Given the description of an element on the screen output the (x, y) to click on. 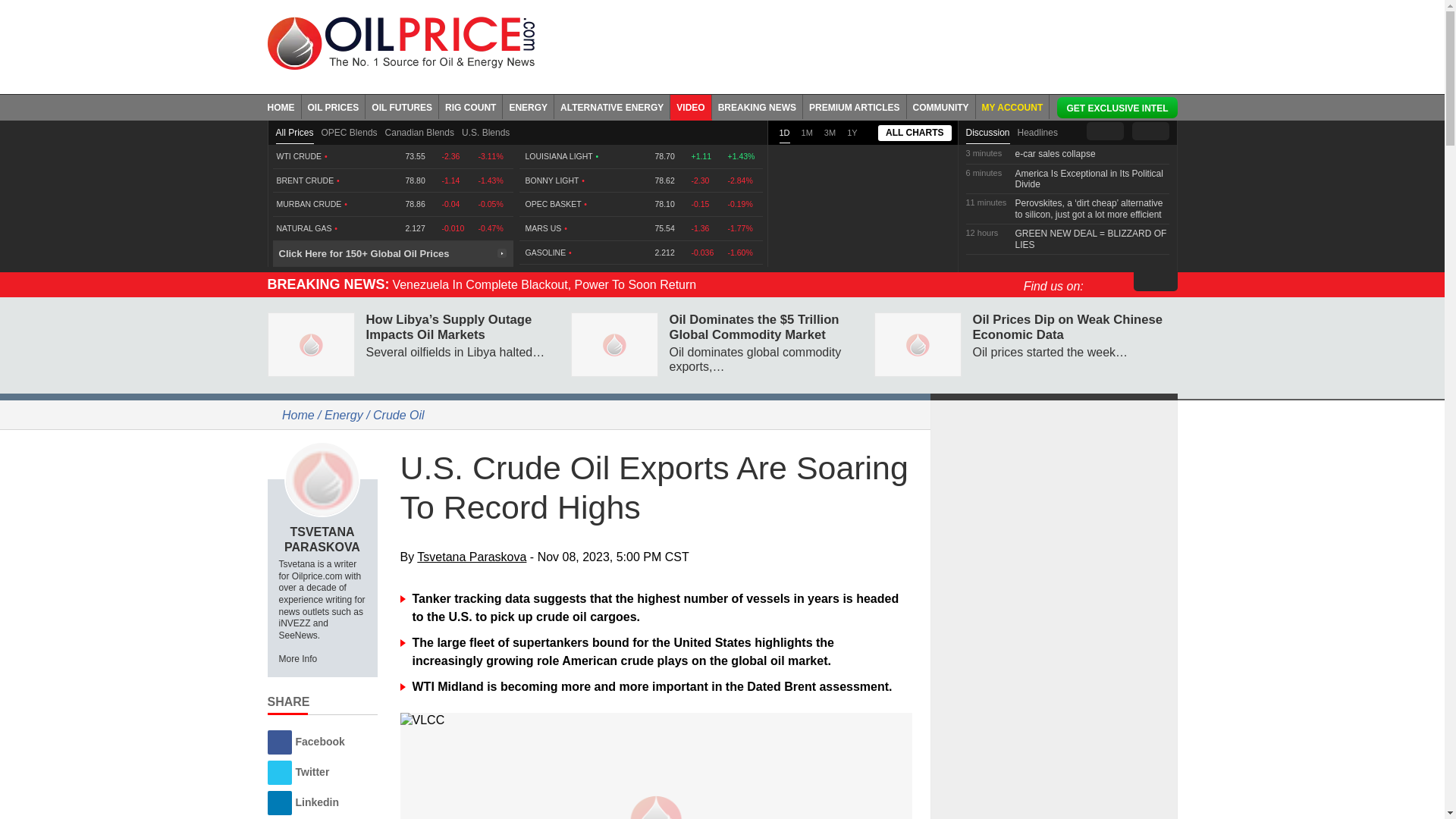
OIL PRICES (333, 106)
RIG COUNT (470, 106)
VIDEO (690, 106)
BREAKING NEWS (757, 106)
ENERGY (528, 106)
PREMIUM ARTICLES (855, 106)
HOME (283, 106)
ALTERNATIVE ENERGY (611, 106)
Oil prices - Oilprice.com (400, 42)
VLCC (656, 719)
